Given the description of an element on the screen output the (x, y) to click on. 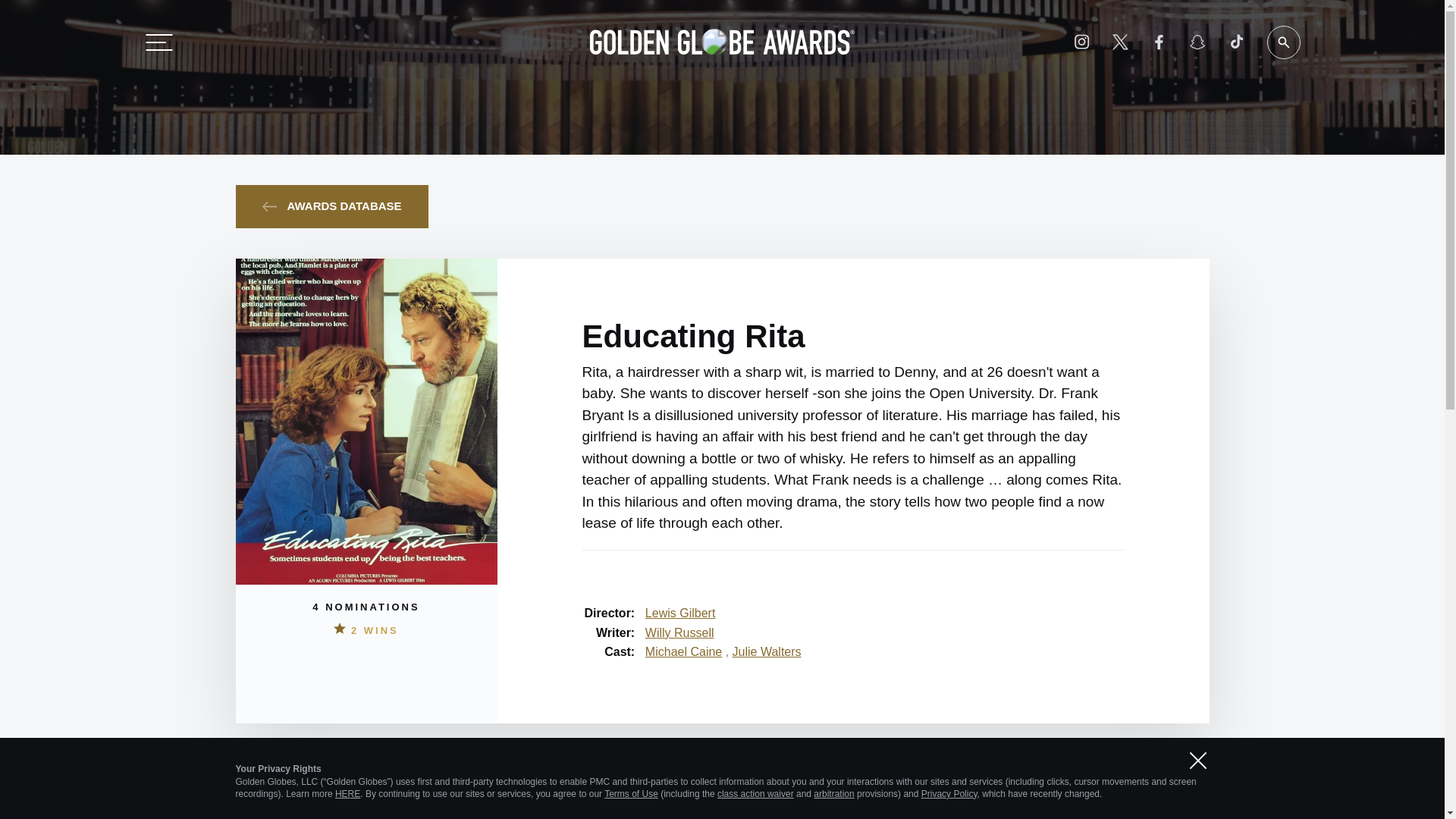
Julie Walters (767, 651)
Lewis Gilbert (679, 613)
Michael Caine (683, 651)
Willy Russell (679, 632)
AWARDS DATABASE (331, 206)
